Given the description of an element on the screen output the (x, y) to click on. 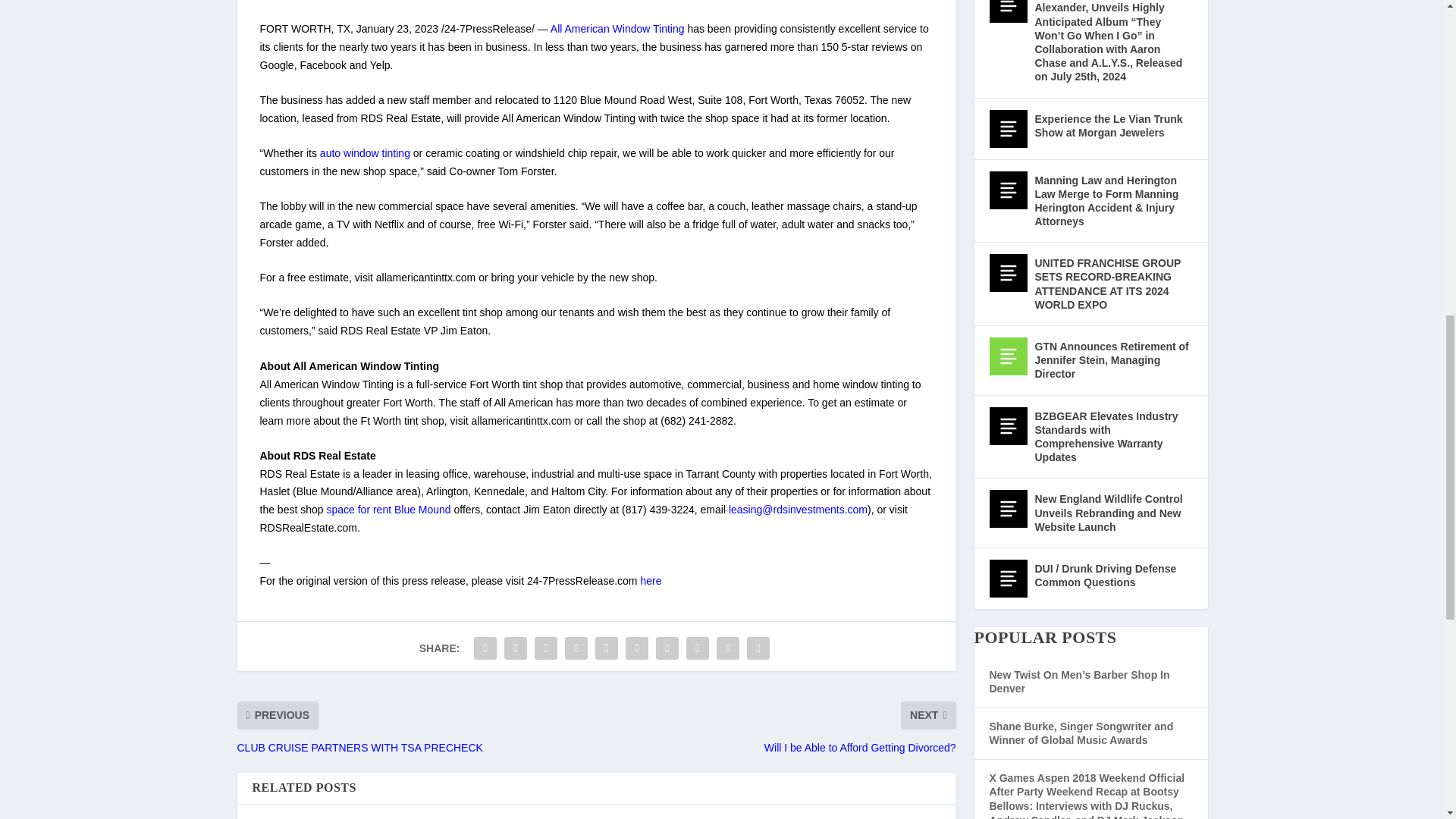
space for rent Blue Mound (387, 509)
auto window tinting (365, 152)
All American Window Tinting (617, 28)
here (650, 580)
